Given the description of an element on the screen output the (x, y) to click on. 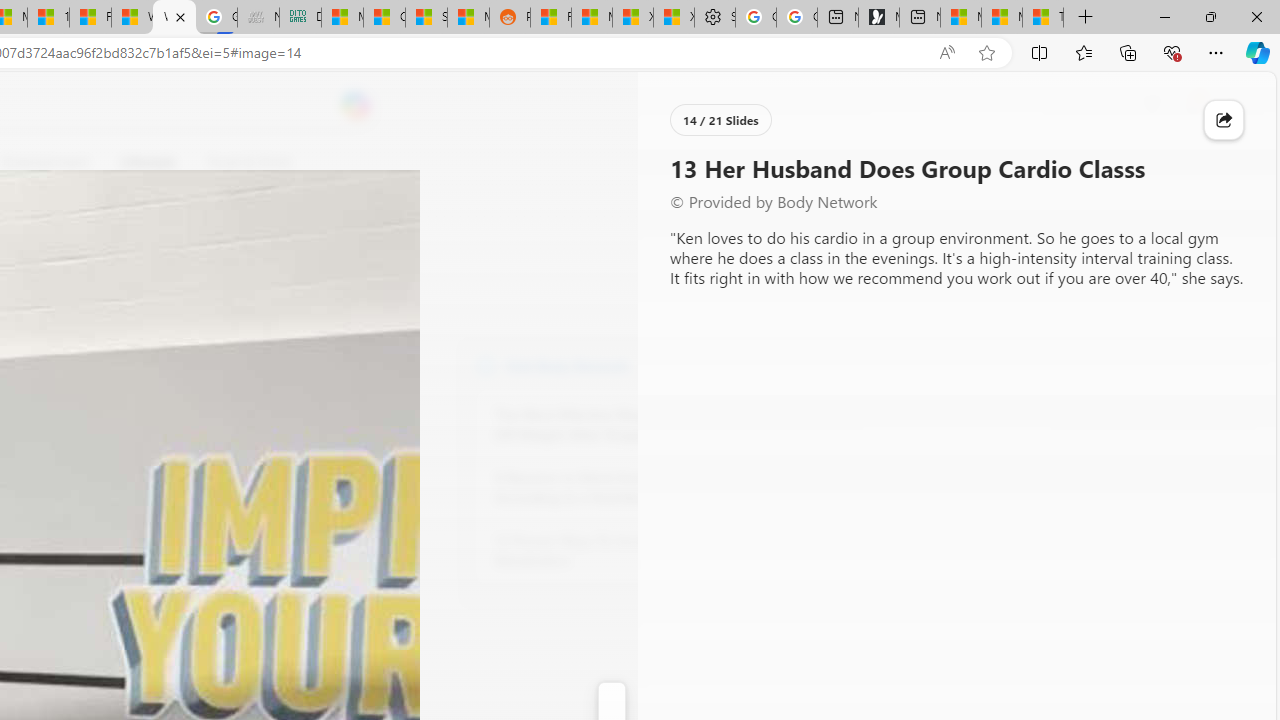
Visit Body Network website (733, 364)
Food & Drink (240, 162)
Body Network (486, 364)
Entertainment (45, 162)
